Given the description of an element on the screen output the (x, y) to click on. 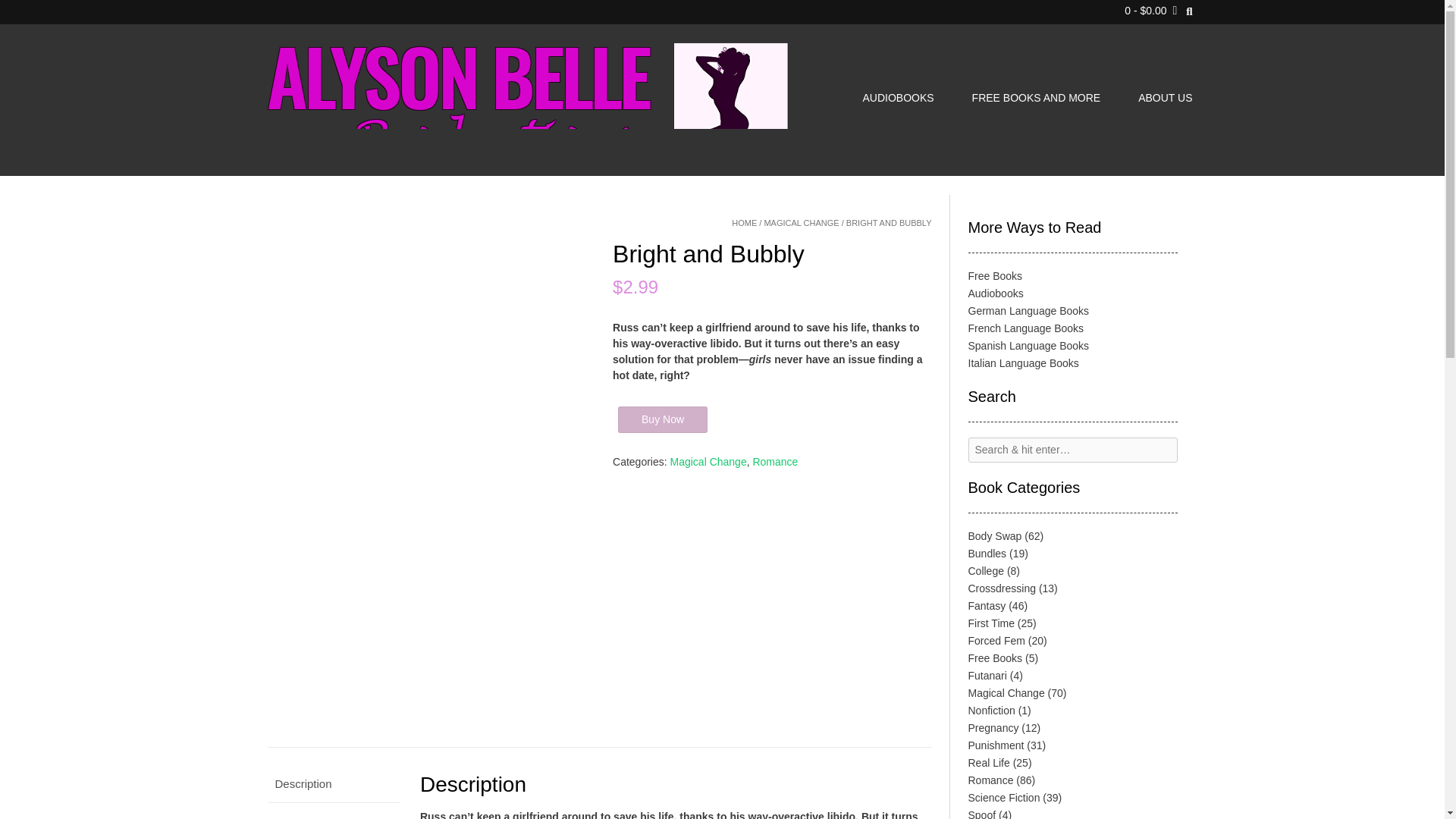
Audiobooks (995, 293)
Forced Fem (996, 640)
Body Swap (995, 535)
Bundles (987, 553)
MAGICAL CHANGE (800, 222)
Buy Now (662, 419)
Italian Language Books (1023, 363)
Magical Change (707, 461)
First Time (990, 623)
Free Books (995, 275)
